Given the description of an element on the screen output the (x, y) to click on. 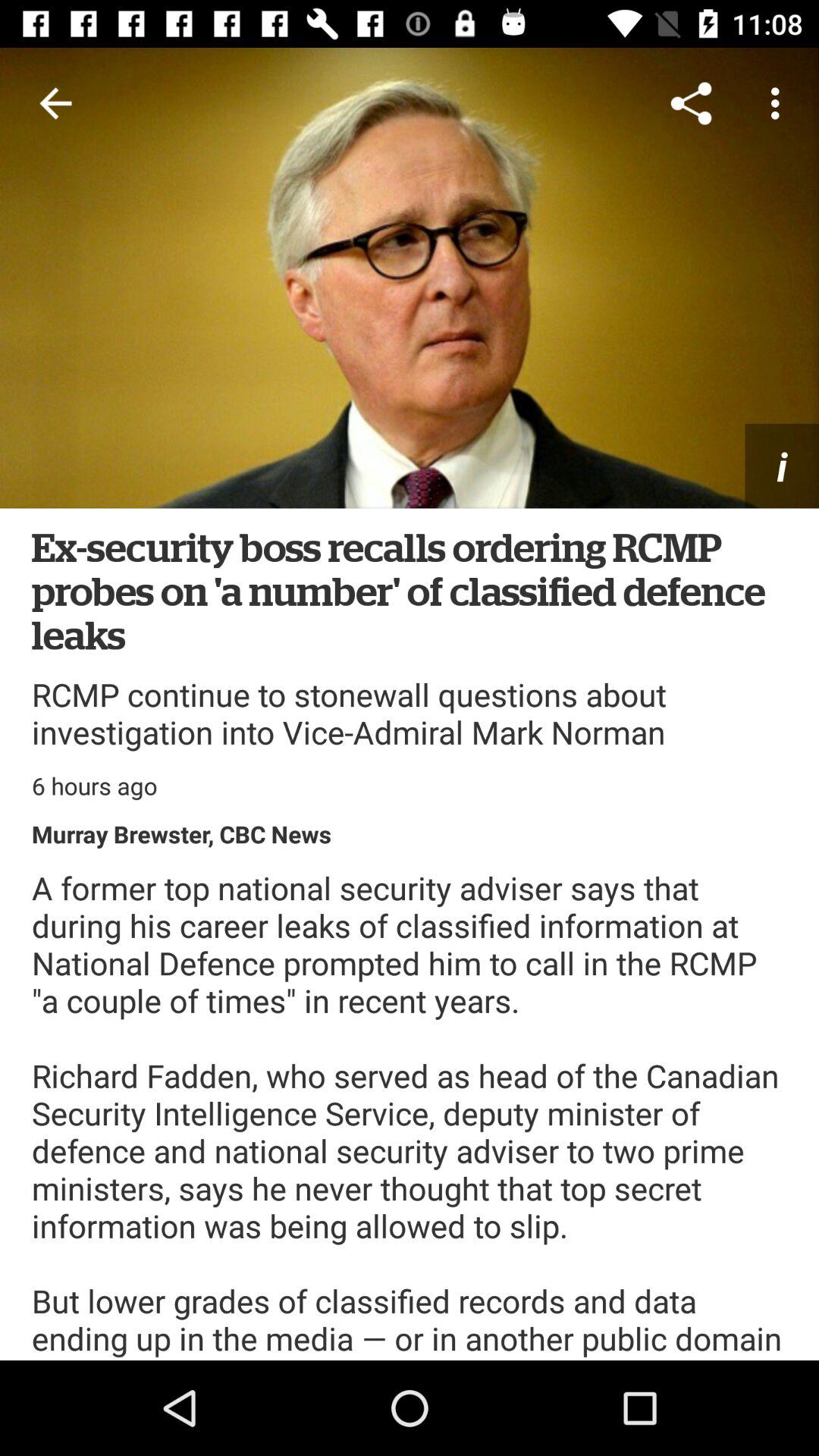
turn on item above the a former top (181, 833)
